Given the description of an element on the screen output the (x, y) to click on. 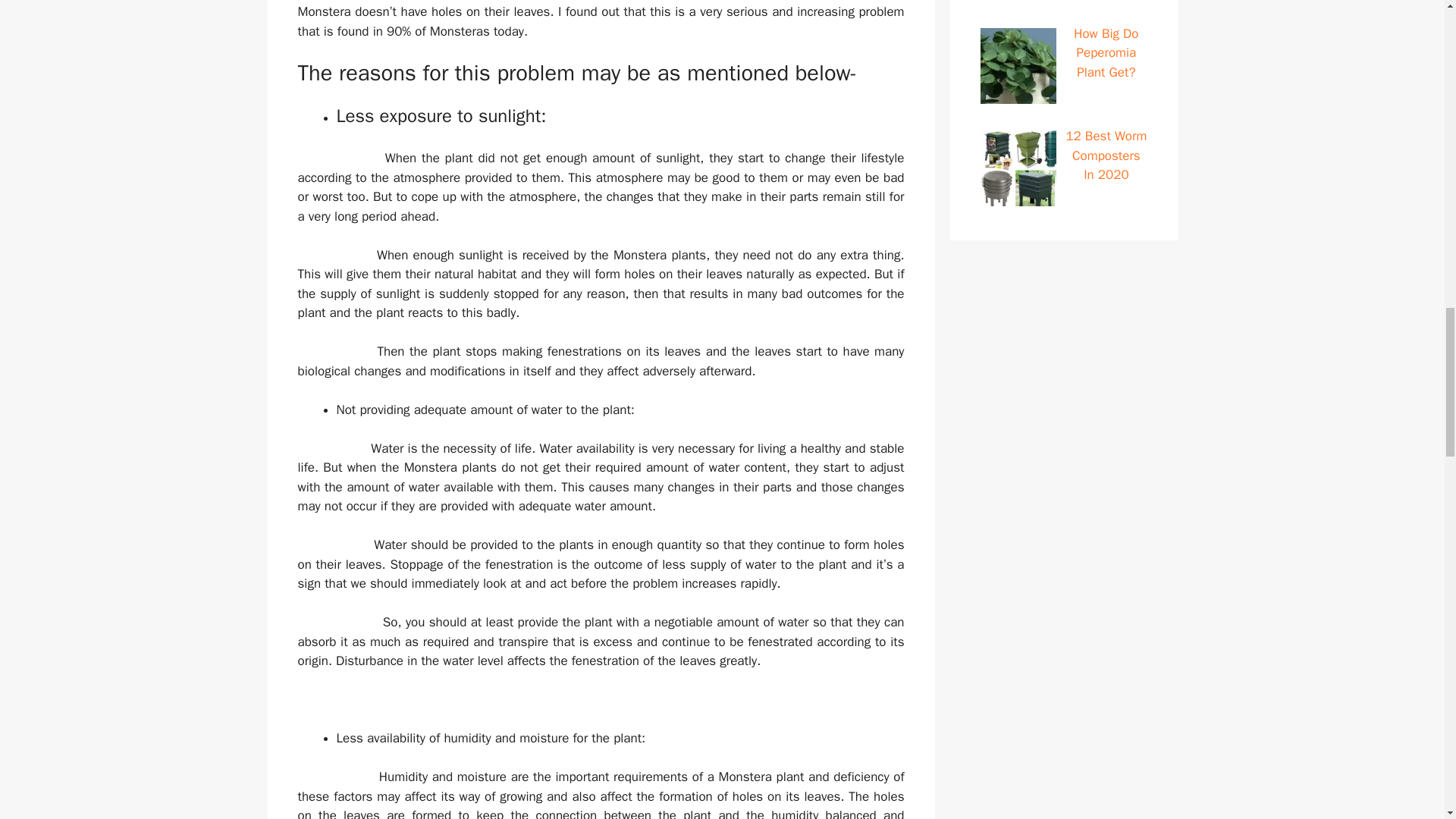
How Big Do Peperomia Plant Get? 8 (1017, 65)
12 Best Worm Composters In 2020 9 (1017, 168)
12 Best Worm Composters In 2020 (1106, 154)
How Big Do Peperomia Plant Get? (1106, 52)
